Given the description of an element on the screen output the (x, y) to click on. 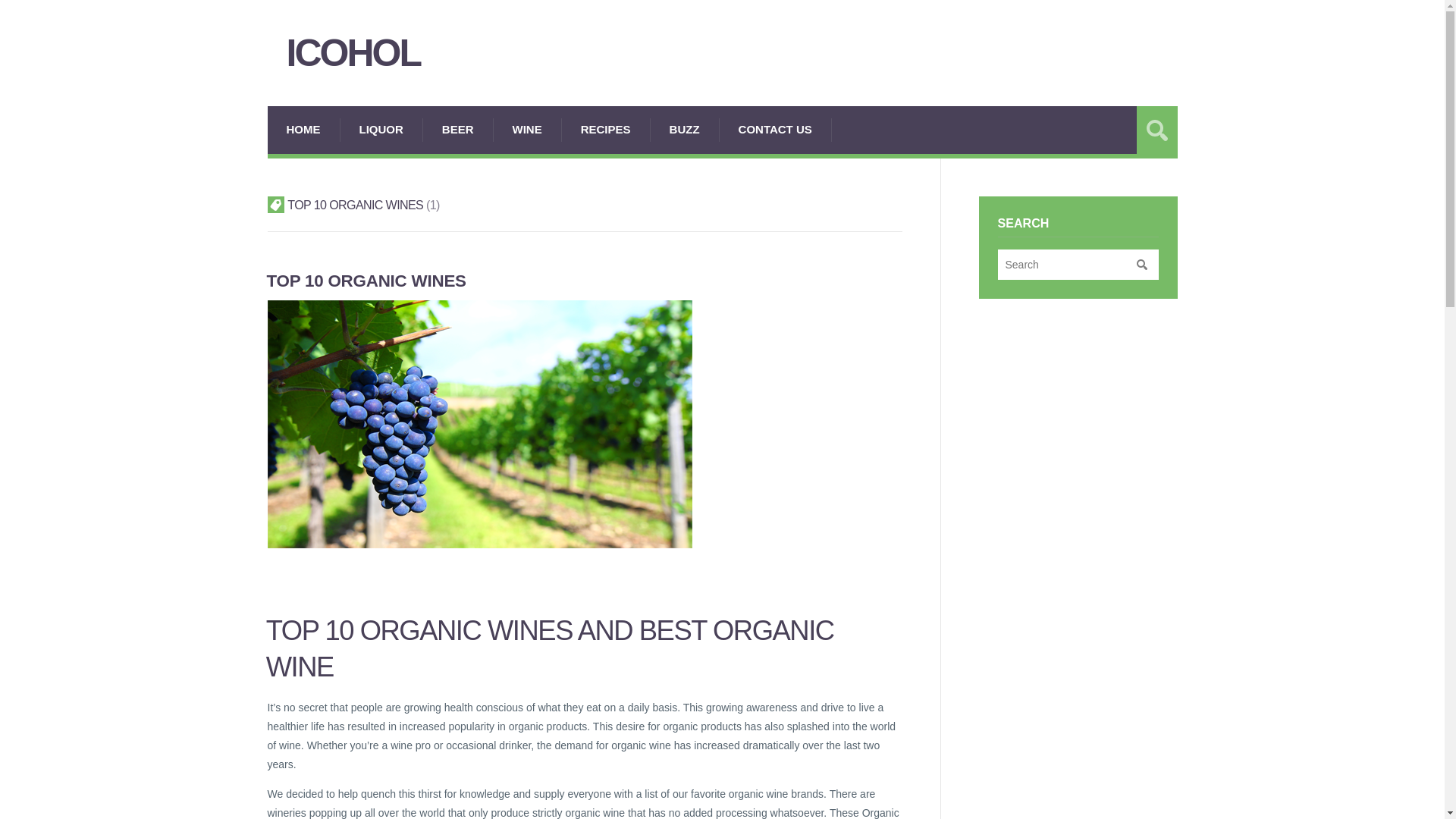
RECIPES (606, 129)
WINE (527, 129)
BUZZ (684, 129)
CONTACT US (775, 129)
BEER (458, 129)
ICOHOL (385, 53)
Search (1141, 264)
Search (1141, 264)
TOP 10 ORGANIC WINES (365, 280)
HOME (302, 129)
